Given the description of an element on the screen output the (x, y) to click on. 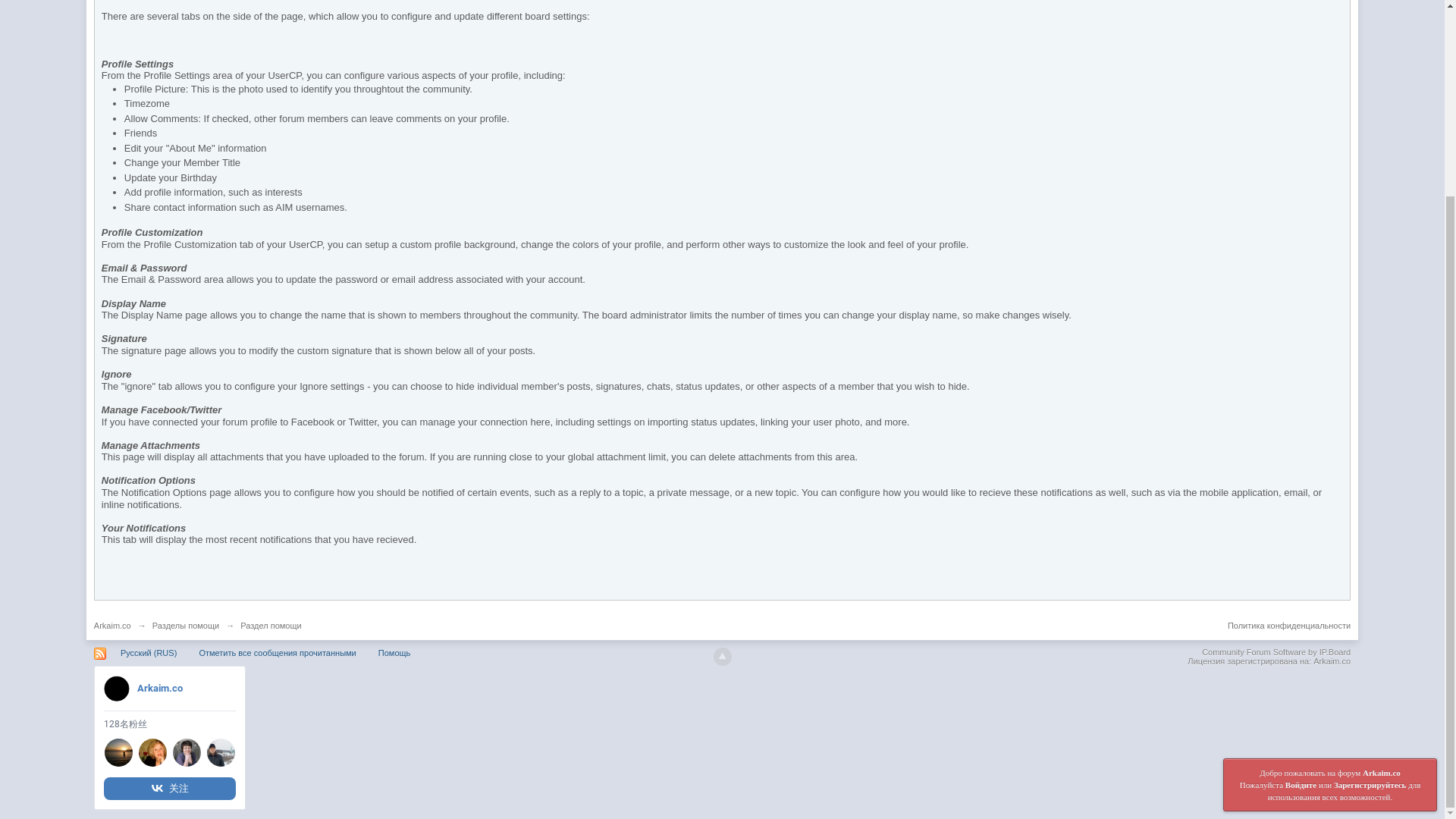
Community Forum Software by IP.Board (1276, 651)
Arkaim.co (112, 624)
